Given the description of an element on the screen output the (x, y) to click on. 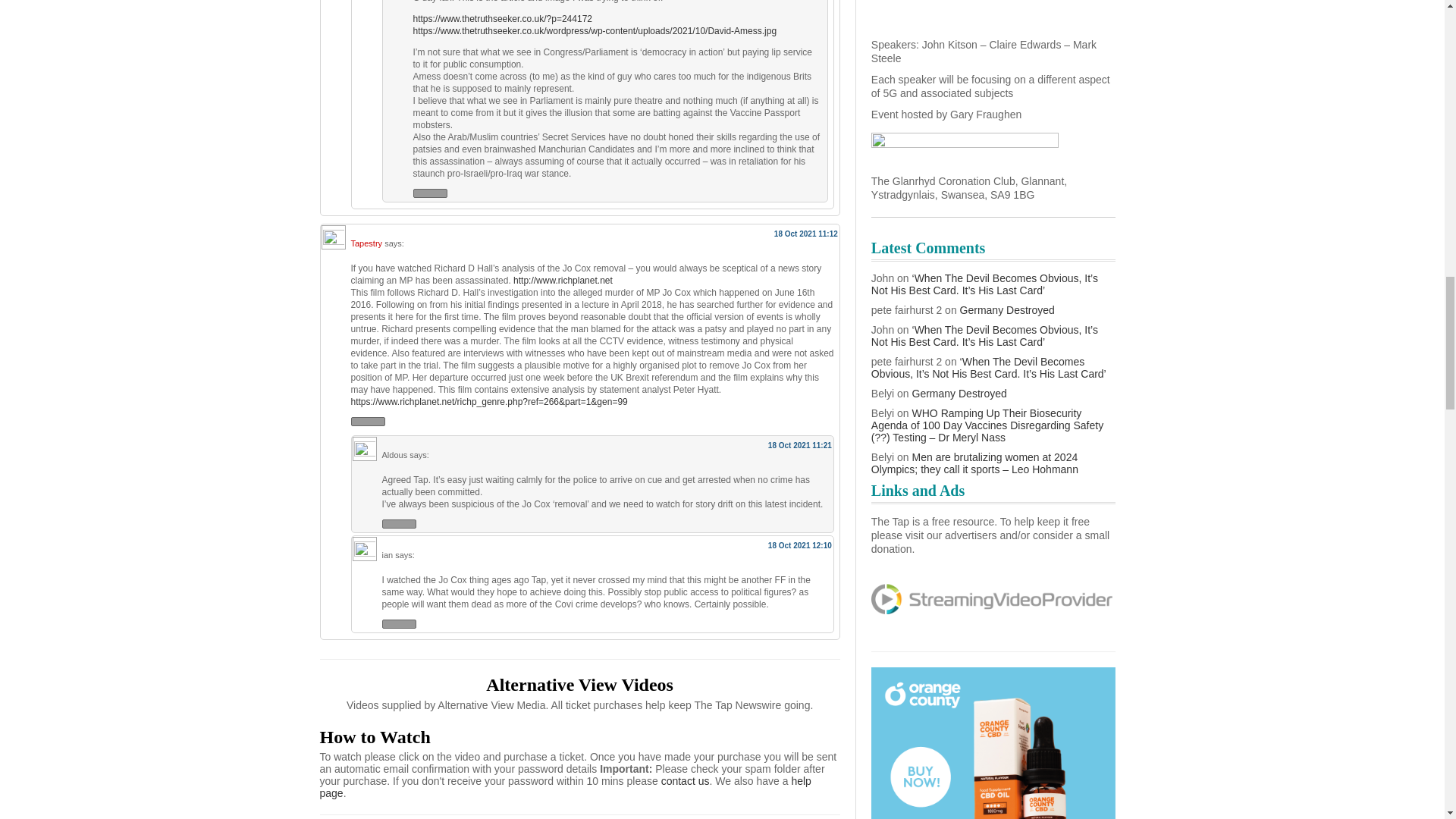
18 Oct 2021 11:12 (806, 234)
18 Oct 2021 11:21 (799, 445)
Tapestry (365, 243)
help page (565, 786)
18 Oct 2021 12:10 (799, 545)
contact us (685, 780)
